Given the description of an element on the screen output the (x, y) to click on. 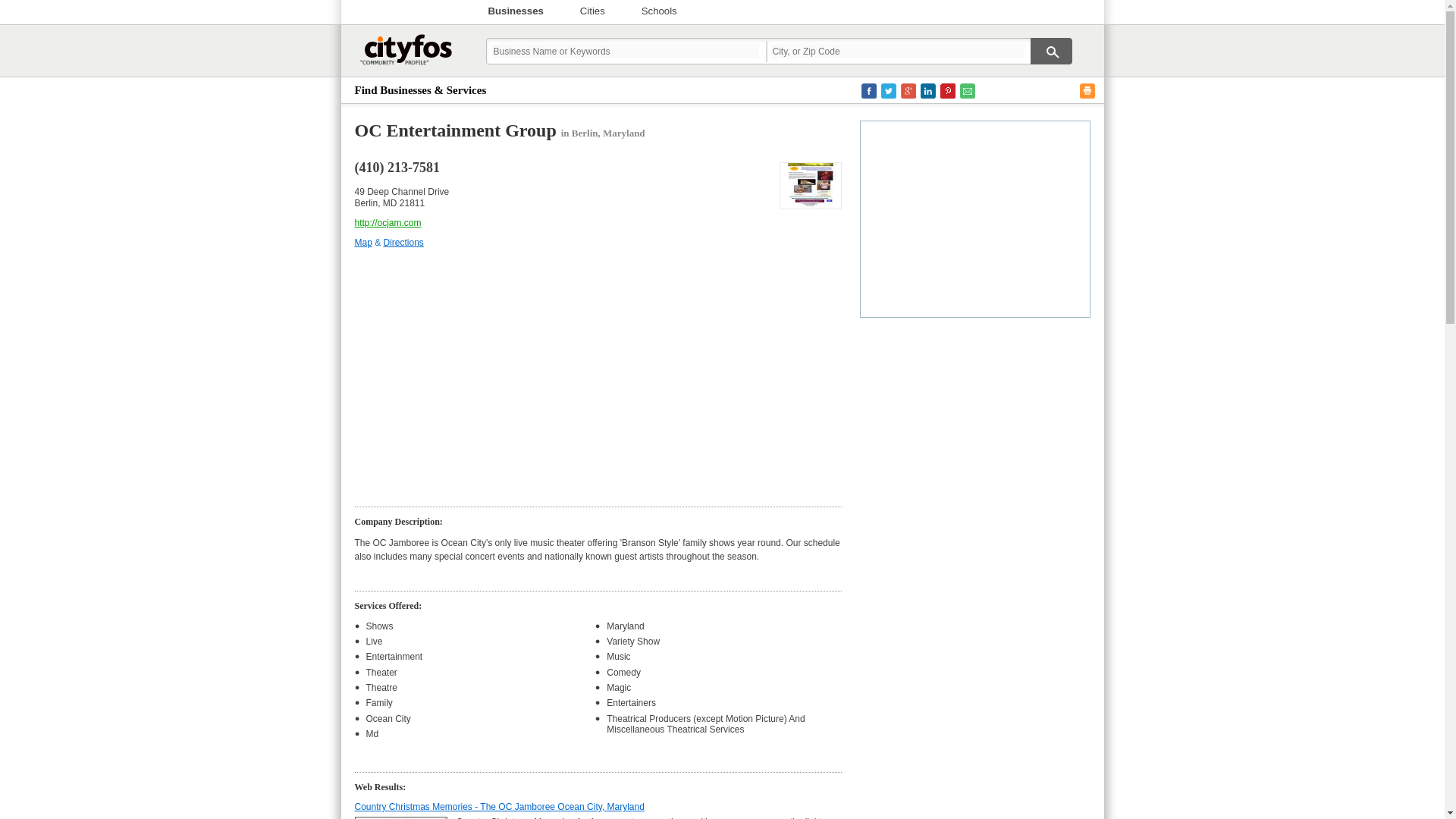
Share with Facebook (868, 90)
Advertisement (975, 217)
cityfos.com Home (405, 54)
Cities (592, 11)
Share with Twitter (888, 90)
Directions (403, 242)
Map for OC Entertainment Group (363, 242)
OC Entertainment Group's Website (809, 185)
E-mail a friend (967, 90)
